Given the description of an element on the screen output the (x, y) to click on. 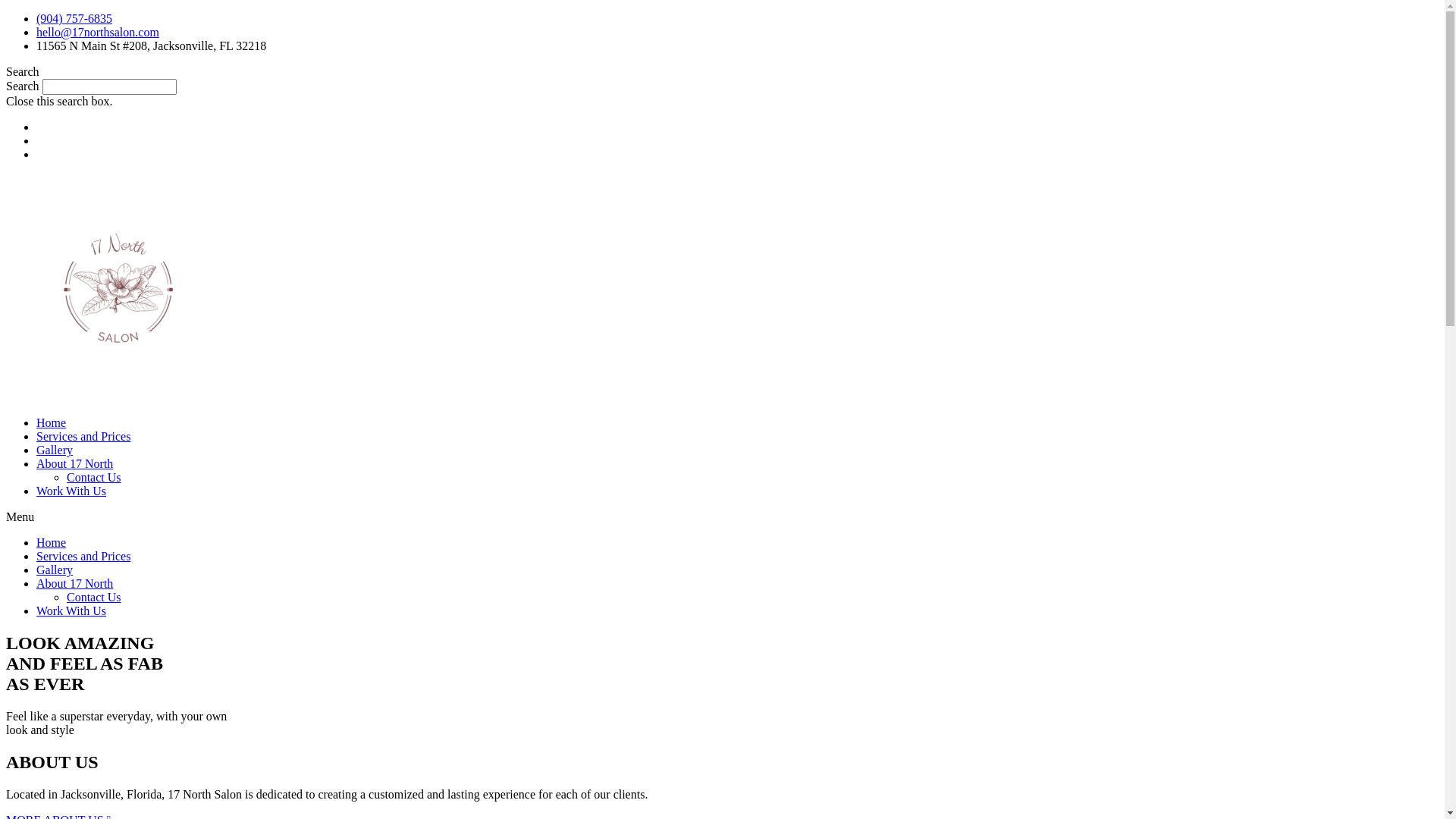
Contact Us Element type: text (93, 476)
(904) 757-6835 Element type: text (74, 18)
Gallery Element type: text (54, 569)
hello@17northsalon.com Element type: text (97, 31)
Services and Prices Element type: text (83, 555)
Work With Us Element type: text (71, 610)
Services and Prices Element type: text (83, 435)
Home Element type: text (50, 422)
Work With Us Element type: text (71, 490)
Contact Us Element type: text (93, 596)
About 17 North Element type: text (74, 463)
Home Element type: text (50, 542)
About 17 North Element type: text (74, 583)
Gallery Element type: text (54, 449)
